Given the description of an element on the screen output the (x, y) to click on. 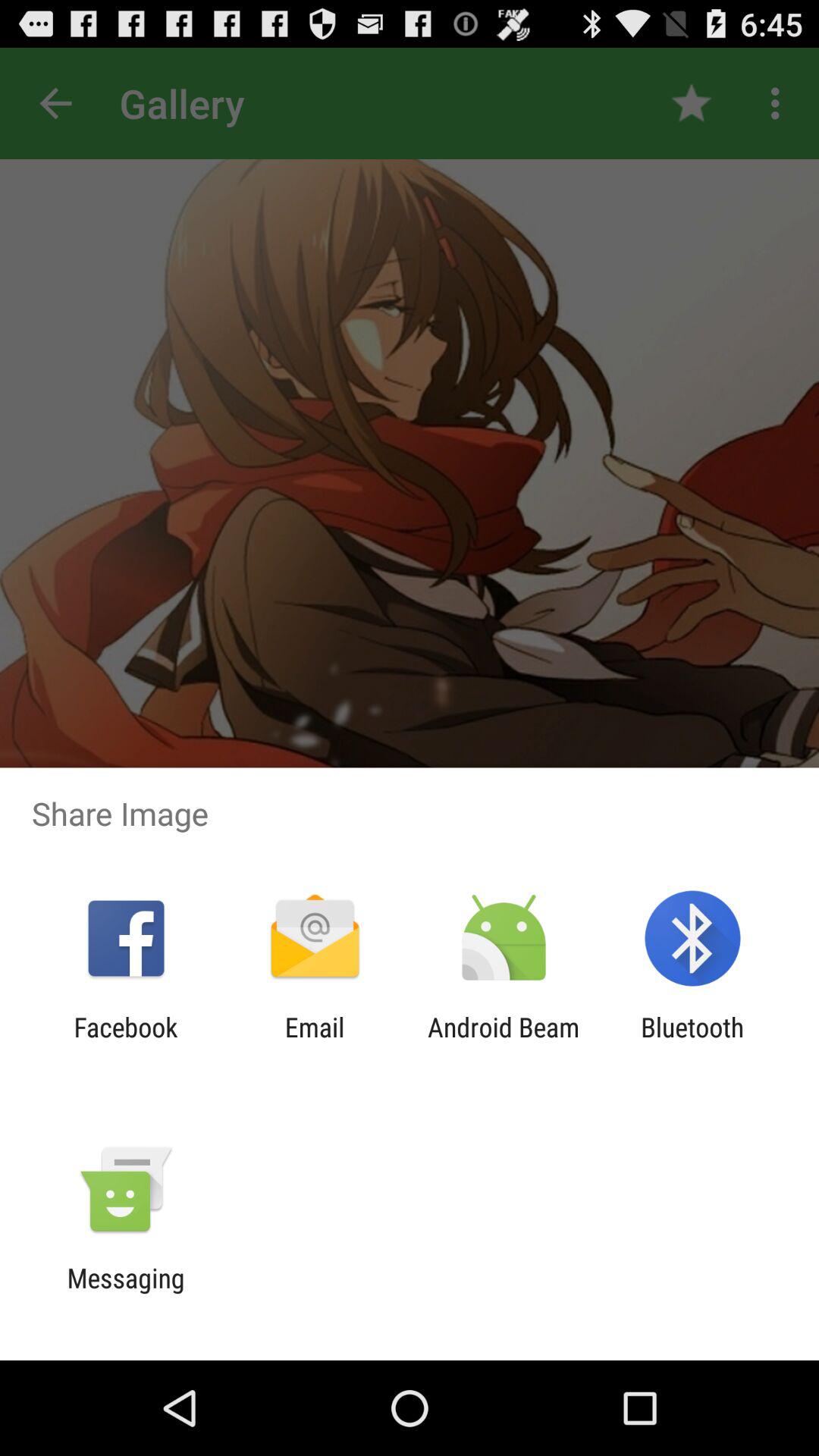
choose icon next to email icon (125, 1042)
